Given the description of an element on the screen output the (x, y) to click on. 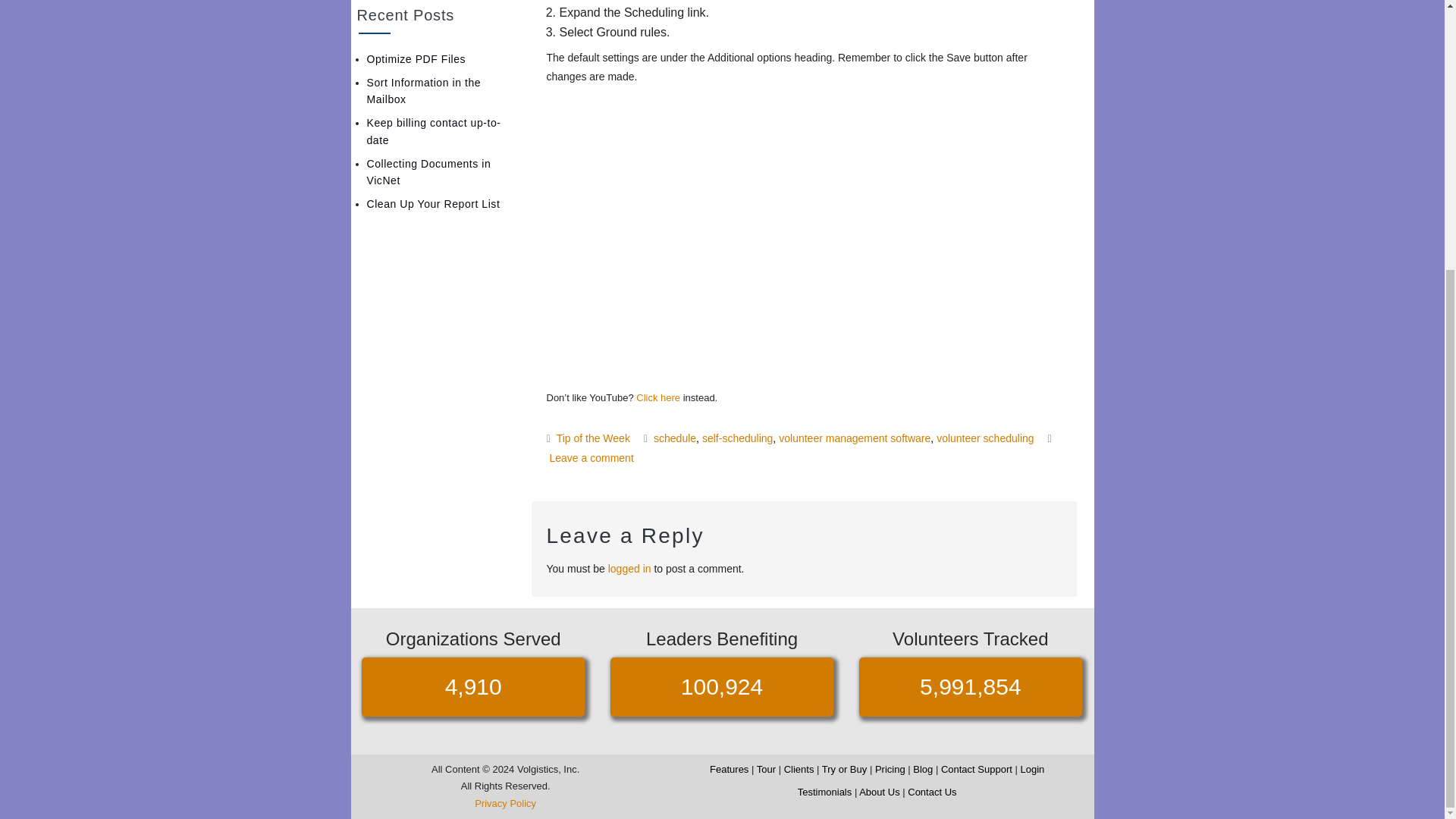
Privacy Policy (504, 803)
